Given the description of an element on the screen output the (x, y) to click on. 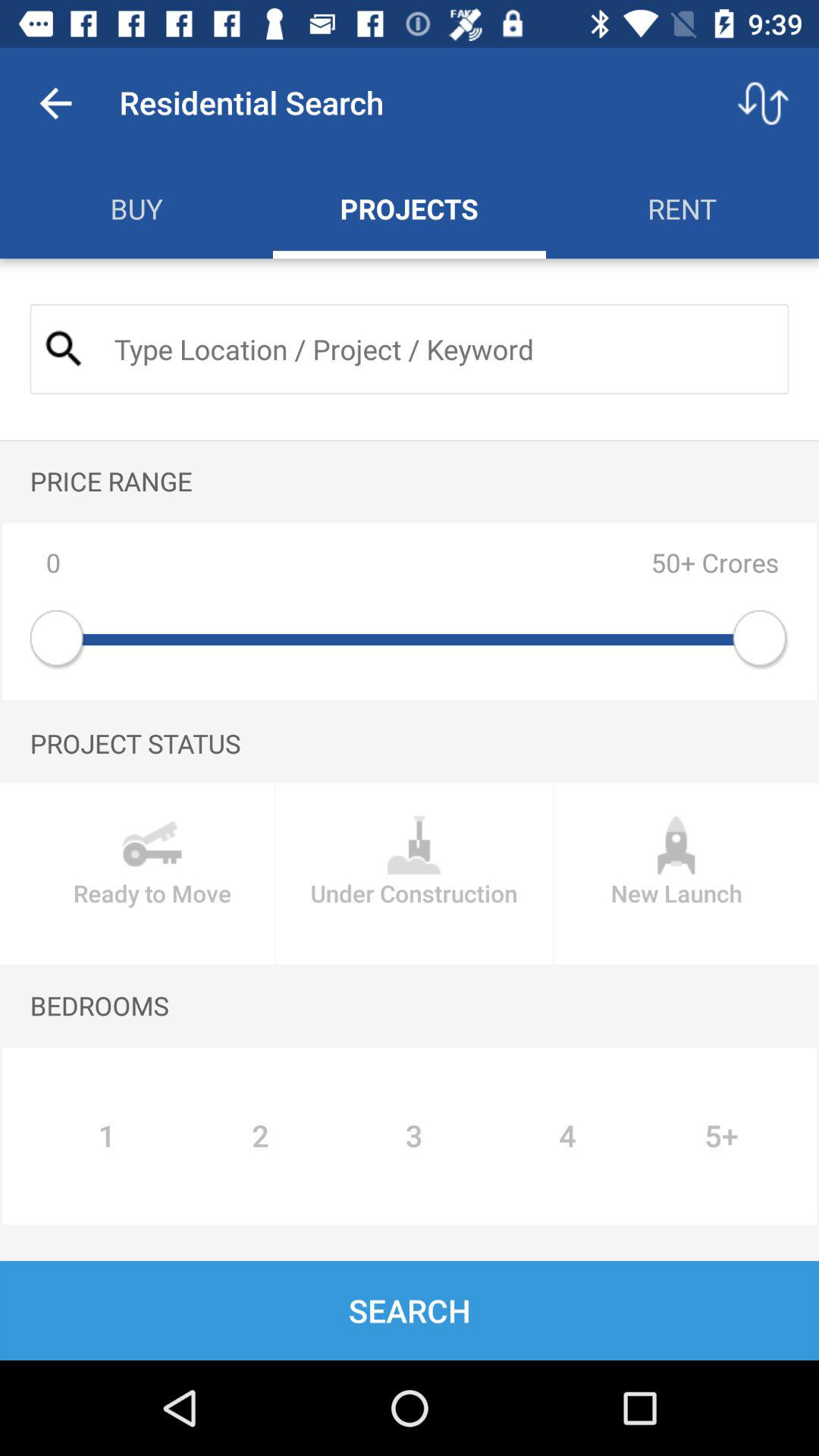
select the item below bedrooms (721, 1135)
